Given the description of an element on the screen output the (x, y) to click on. 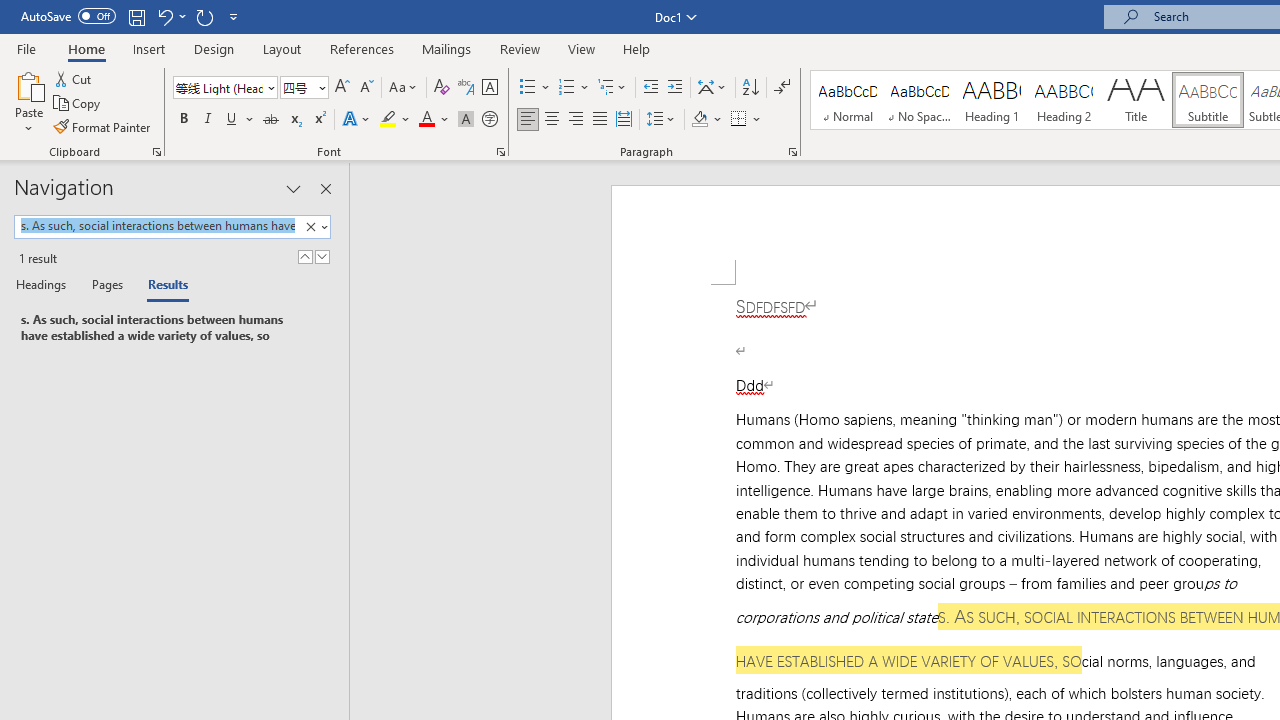
Heading 2 (1063, 100)
Clear (310, 227)
Undo Style (170, 15)
